Given the description of an element on the screen output the (x, y) to click on. 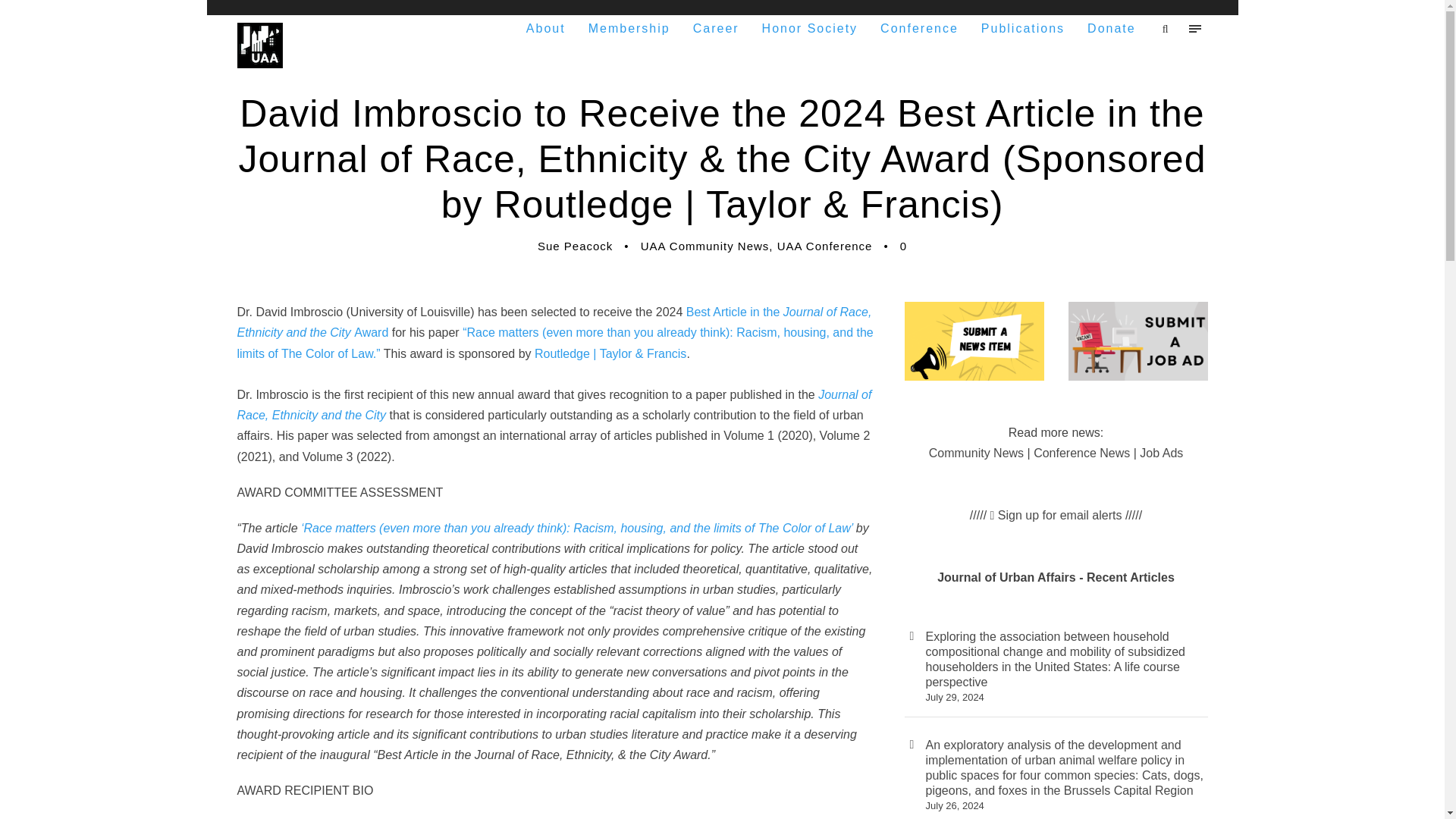
Sue Peacock (574, 245)
UAA Conference (824, 245)
Honor Society (810, 28)
Conference (919, 28)
About (545, 28)
Donate (1111, 28)
Membership (628, 28)
UAA logo (258, 44)
UAA Community News (705, 245)
Career (716, 28)
Publications (1022, 28)
Posts by Sue Peacock (574, 245)
